Given the description of an element on the screen output the (x, y) to click on. 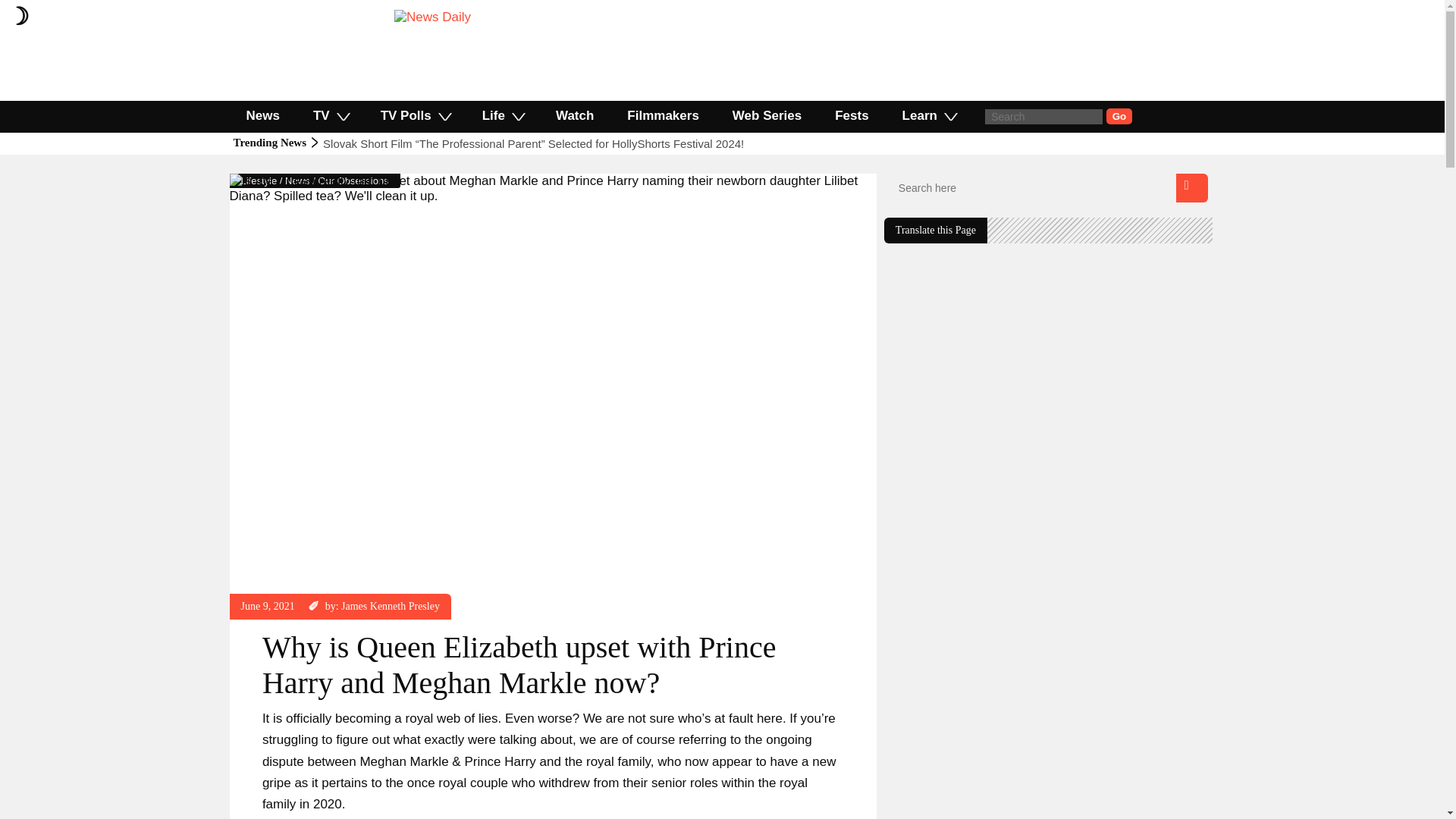
Web Series (767, 115)
Fact check: was there a blackout at the Paris Olympics? (464, 143)
News (261, 115)
Filmmakers (663, 115)
Go (1119, 116)
Go (1119, 116)
Go (1119, 116)
Fests (851, 115)
TV Polls (414, 115)
Life (501, 115)
Learn (928, 115)
TV (330, 115)
Watch (574, 115)
News (297, 180)
Lifestyle (259, 180)
